Given the description of an element on the screen output the (x, y) to click on. 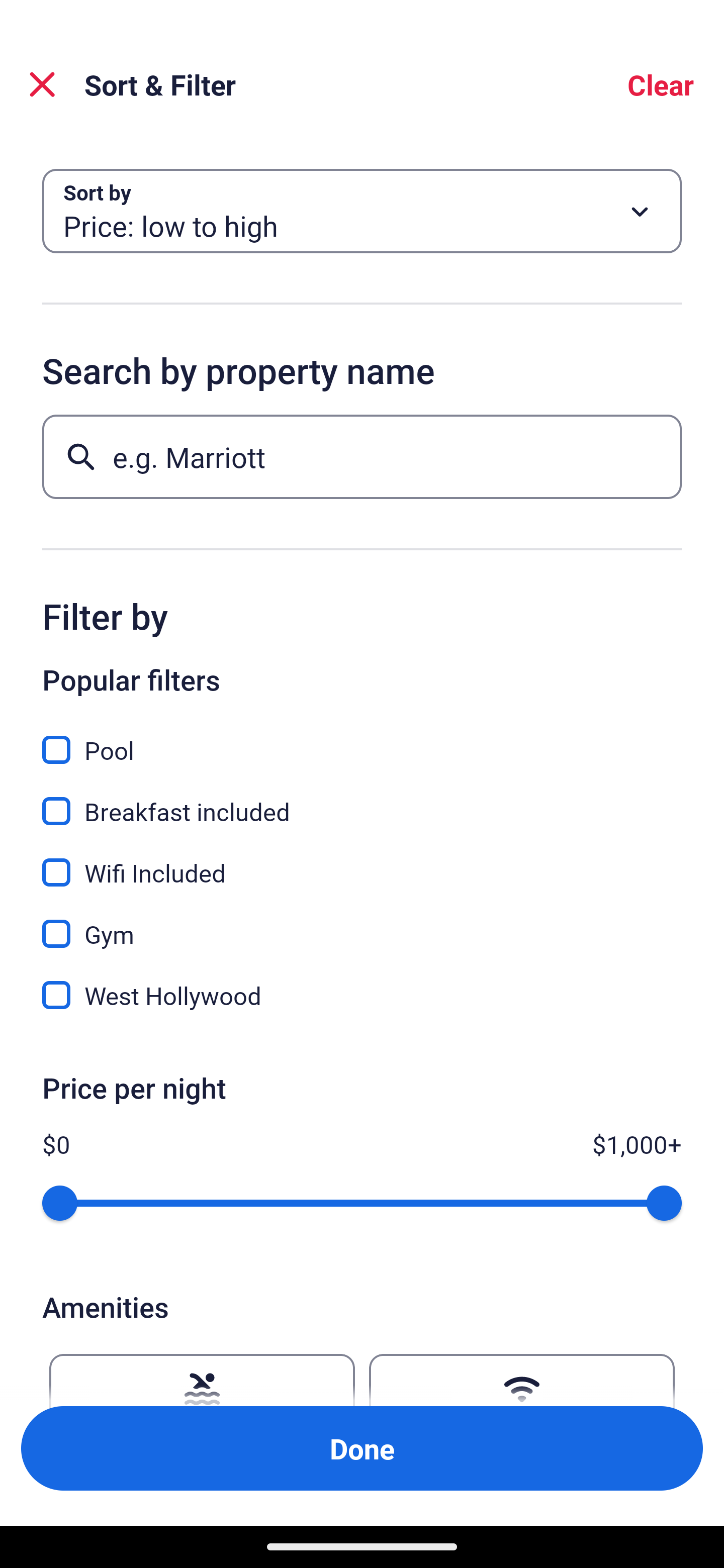
Close Sort and Filter (42, 84)
Clear (660, 84)
Sort by Button Price: low to high (361, 211)
e.g. Marriott Button (361, 455)
Pool, Pool (361, 738)
Breakfast included, Breakfast included (361, 800)
Wifi Included, Wifi Included (361, 861)
Gym, Gym (361, 922)
West Hollywood, West Hollywood (361, 995)
Apply and close Sort and Filter Done (361, 1448)
